Given the description of an element on the screen output the (x, y) to click on. 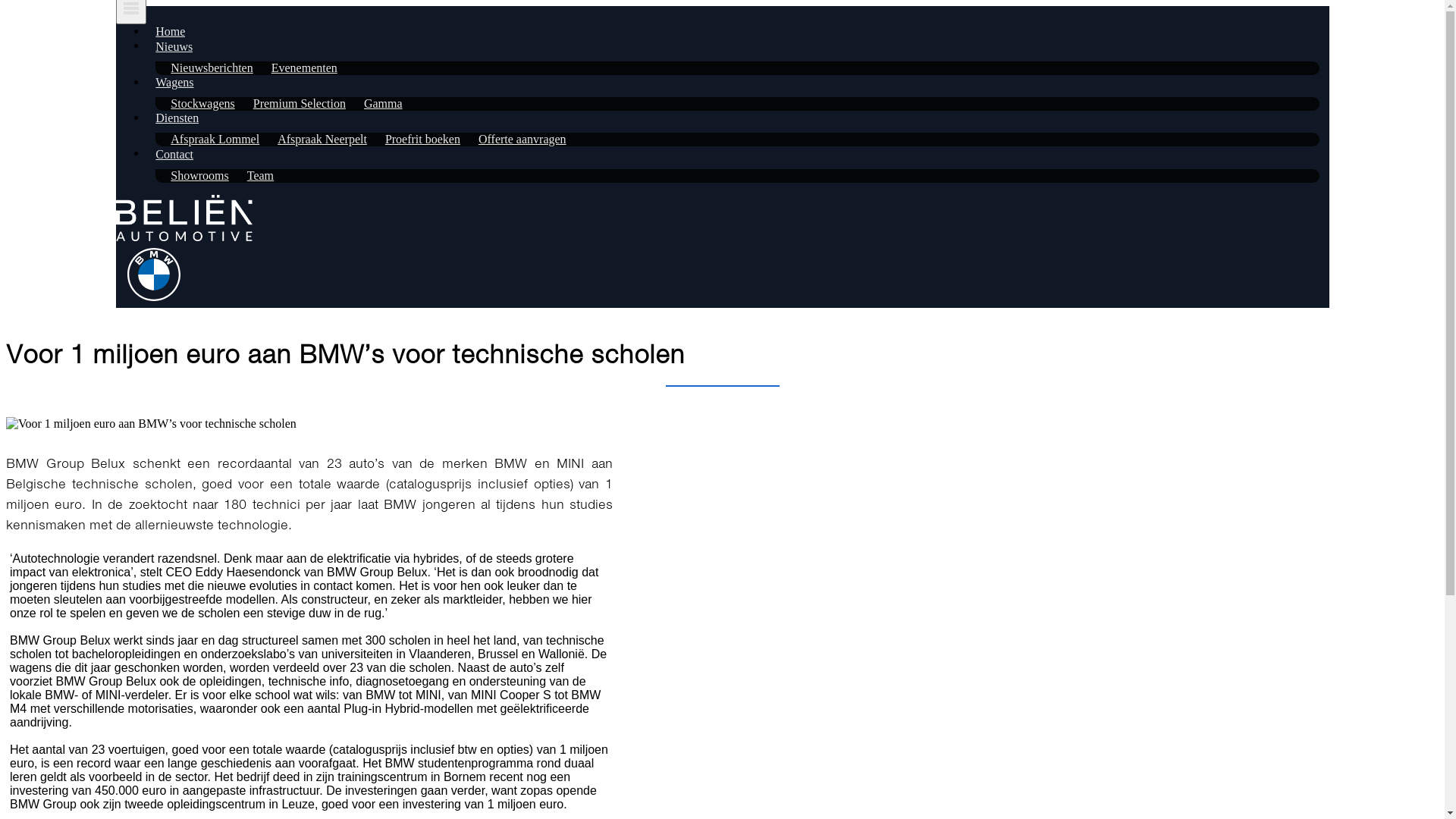
Proefrit boeken Element type: text (415, 138)
Showrooms Element type: text (191, 175)
Wagens Element type: text (174, 82)
Stockwagens Element type: text (194, 103)
Diensten Element type: text (176, 118)
Nieuwsberichten Element type: text (203, 67)
Offerte aanvragen Element type: text (514, 138)
Afspraak Neerpelt Element type: text (314, 138)
Premium Selection Element type: text (291, 103)
Contact Element type: text (174, 154)
Nieuws Element type: text (173, 46)
Home Element type: text (170, 31)
Gamma Element type: text (375, 103)
Afspraak Lommel Element type: text (207, 138)
Evenementen Element type: text (296, 67)
Team Element type: text (252, 175)
